Given the description of an element on the screen output the (x, y) to click on. 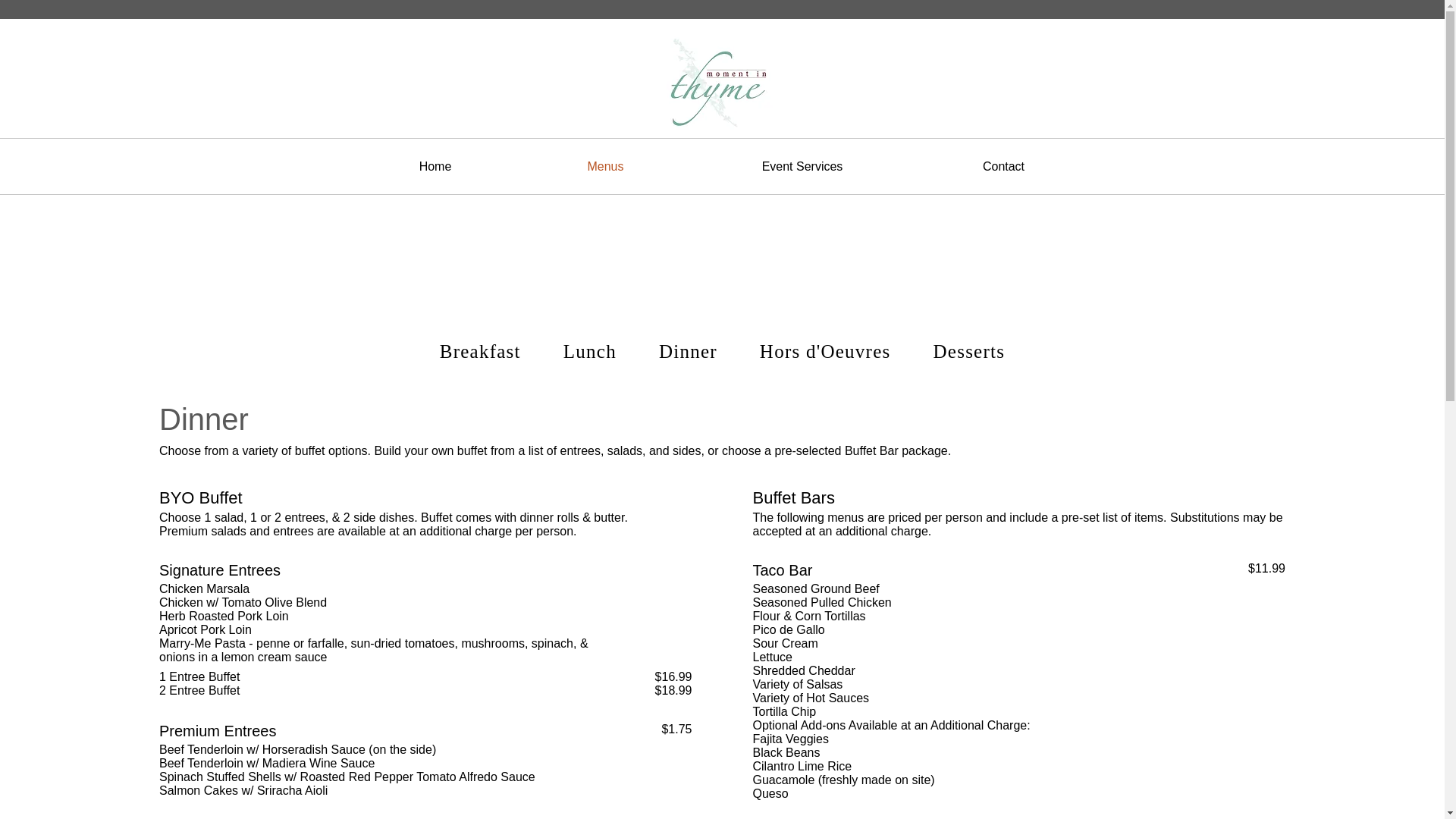
mit.jpg (722, 80)
Event Services (802, 165)
Menus (605, 165)
Breakfast (480, 352)
Contact (1002, 165)
Lunch (590, 352)
Hors d'Oeuvres (825, 352)
Desserts (969, 352)
Dinner (687, 352)
Home (434, 165)
